Given the description of an element on the screen output the (x, y) to click on. 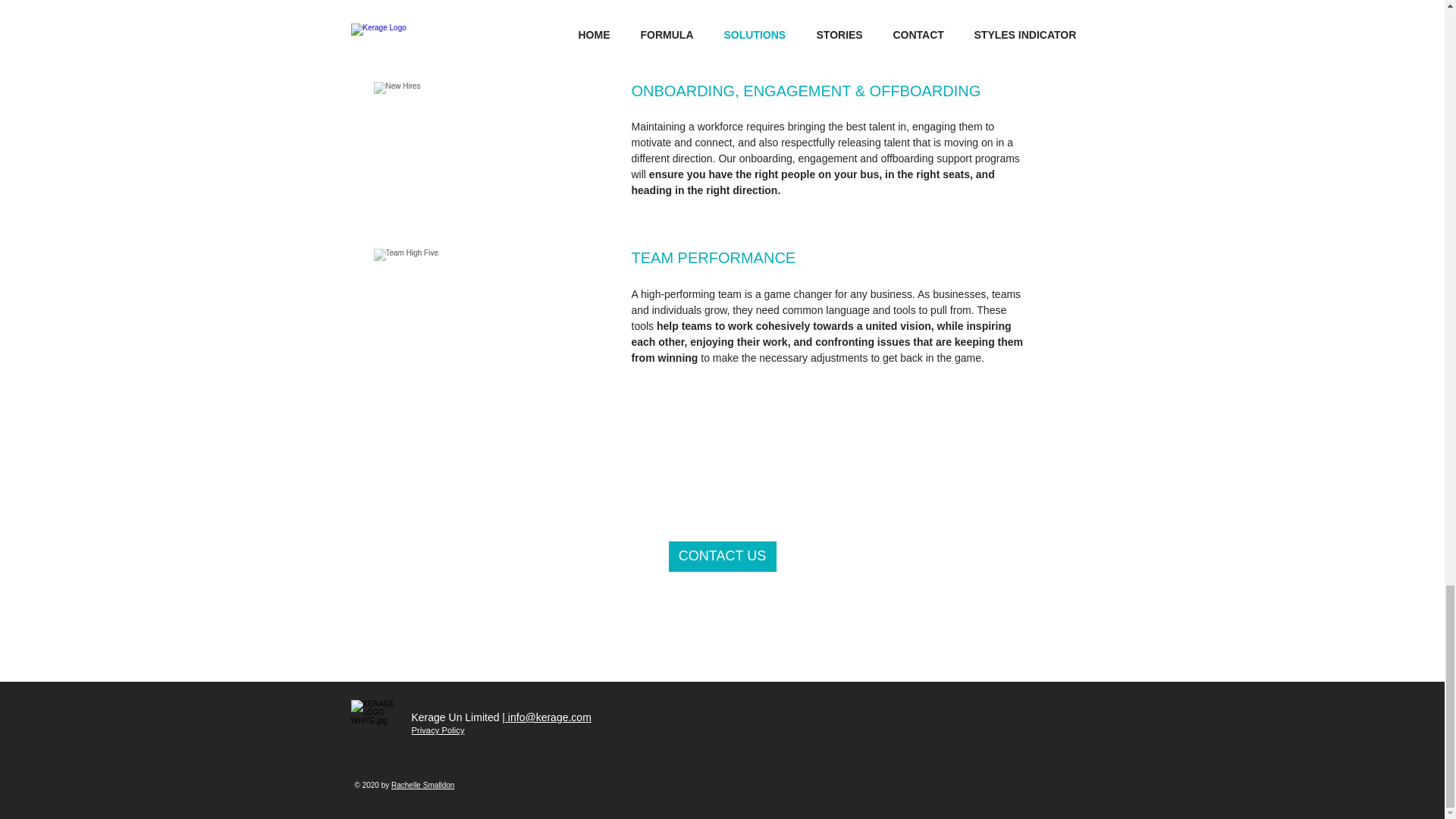
Privacy Policy (437, 729)
Rachelle Smalldon (422, 785)
CONTACT US (722, 556)
